Given the description of an element on the screen output the (x, y) to click on. 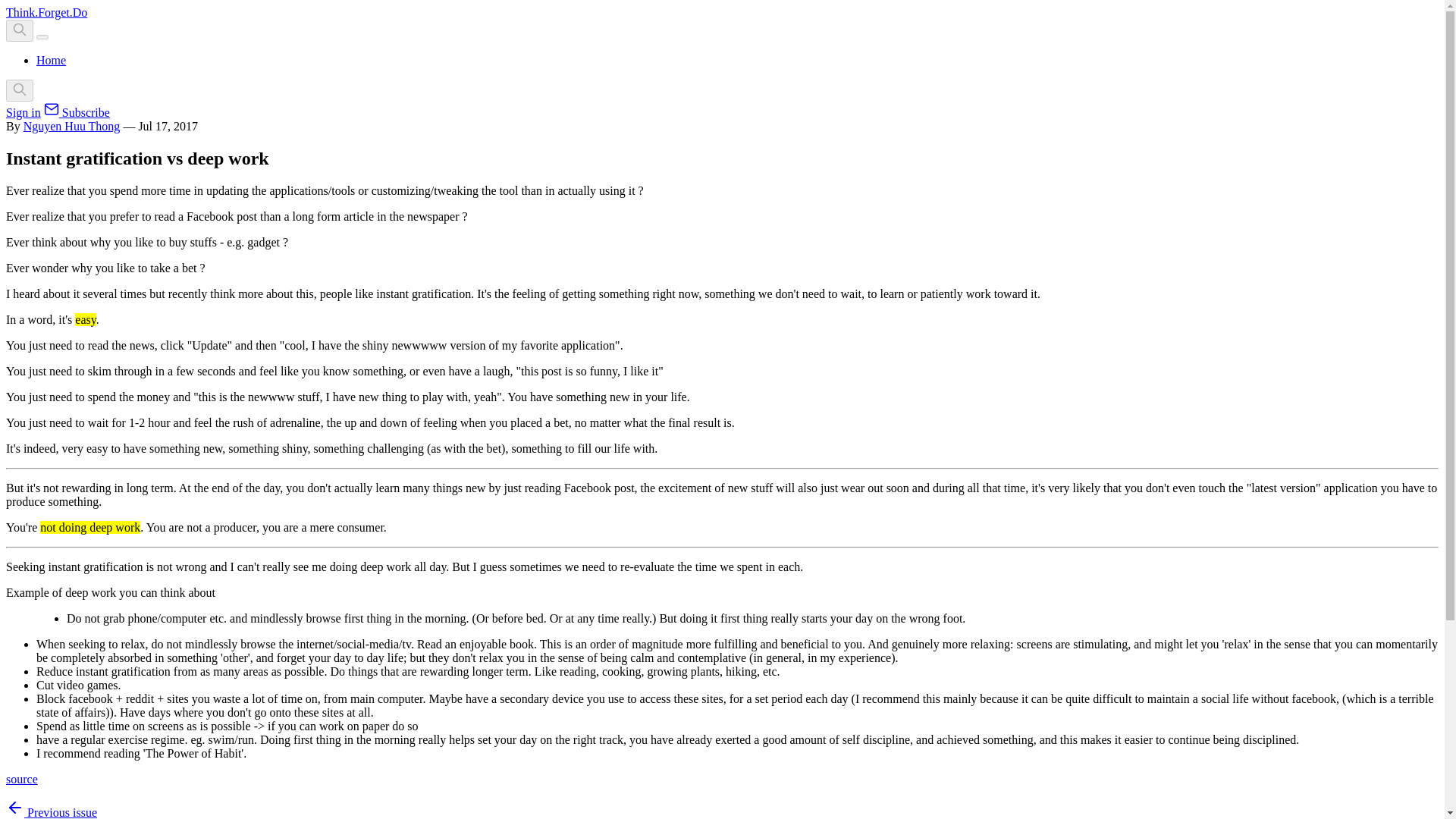
Home (50, 60)
Subscribe (76, 112)
Think.Forget.Do (46, 11)
Sign in (22, 112)
source (21, 779)
Nguyen Huu Thong (71, 125)
